Given the description of an element on the screen output the (x, y) to click on. 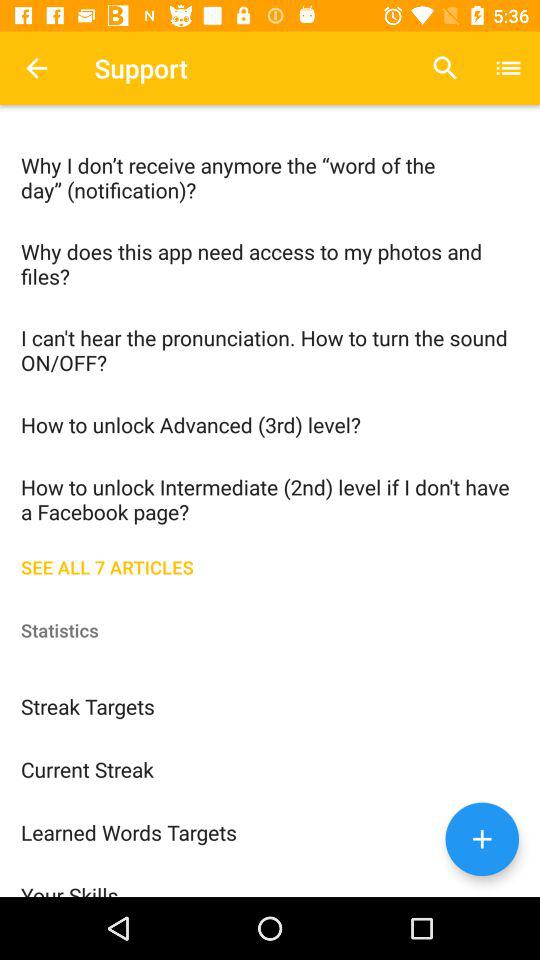
turn off item below the how to unlock item (270, 565)
